Given the description of an element on the screen output the (x, y) to click on. 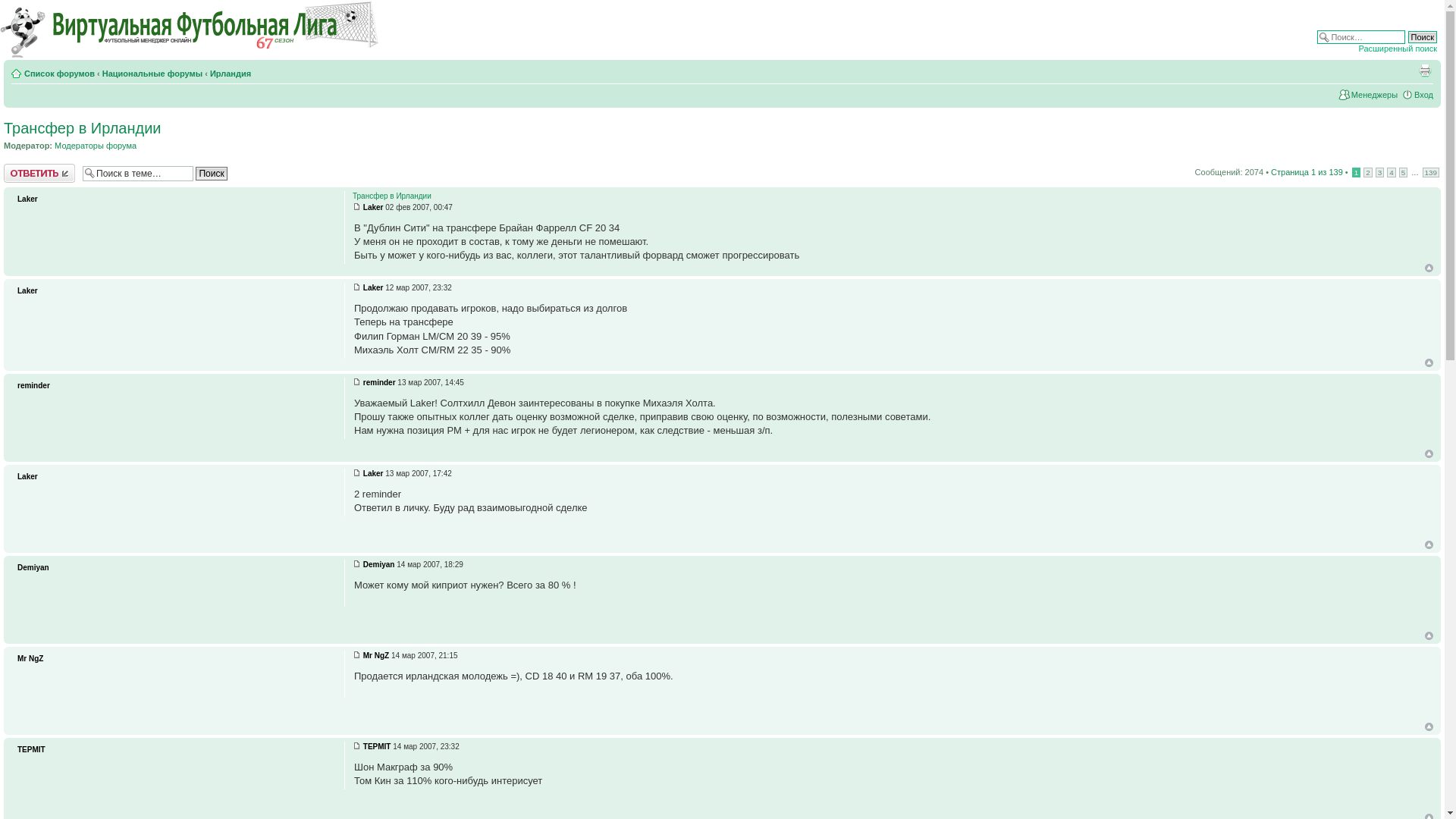
3 Element type: text (1379, 172)
139 Element type: text (1430, 172)
5 Element type: text (1403, 172)
2 Element type: text (1367, 172)
4 Element type: text (1391, 172)
